Given the description of an element on the screen output the (x, y) to click on. 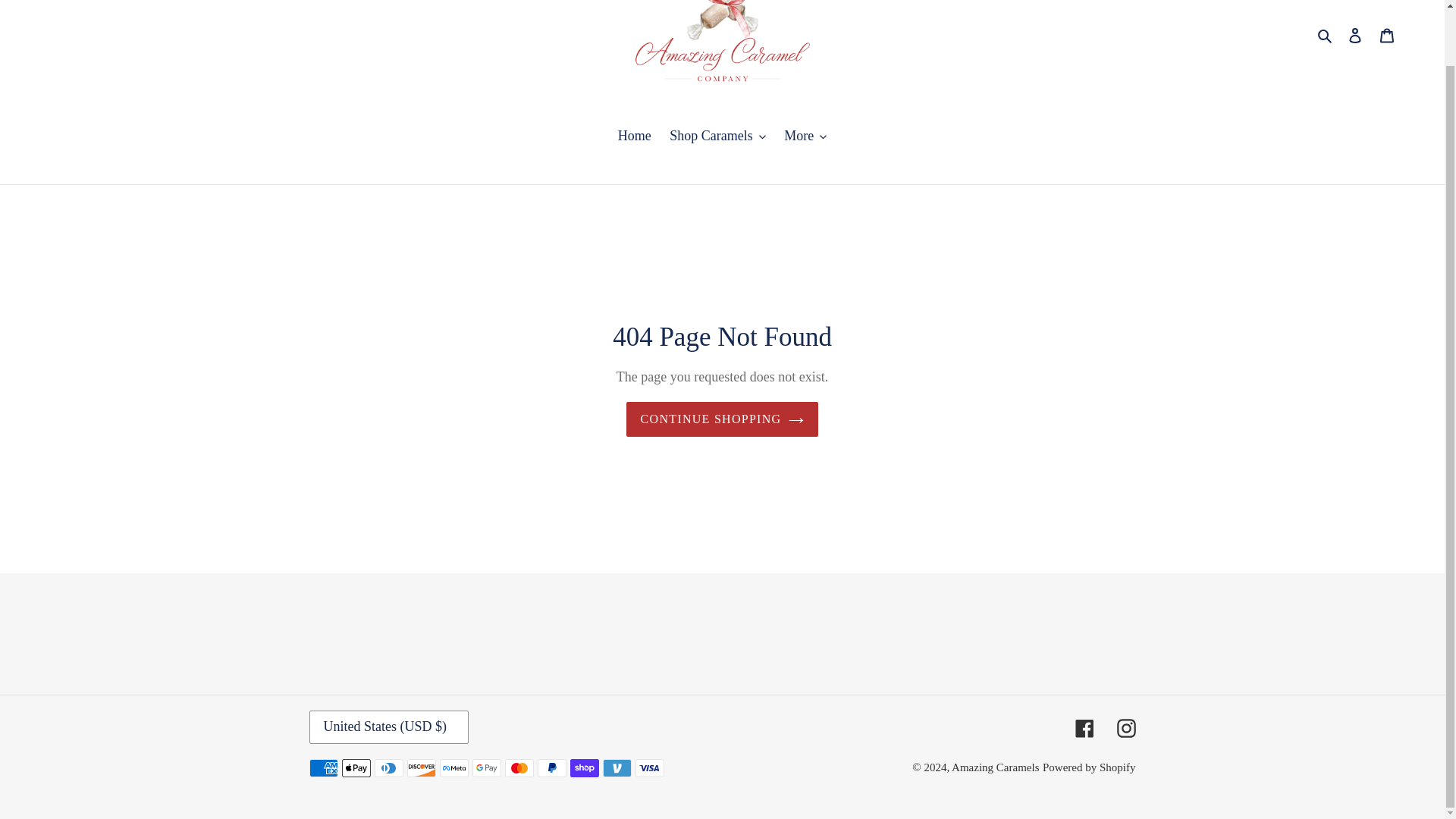
Shop Caramels (717, 137)
More (805, 137)
Cart (1387, 35)
CONTINUE SHOPPING (722, 419)
Search (1326, 34)
Log in (1355, 35)
Home (634, 137)
